Given the description of an element on the screen output the (x, y) to click on. 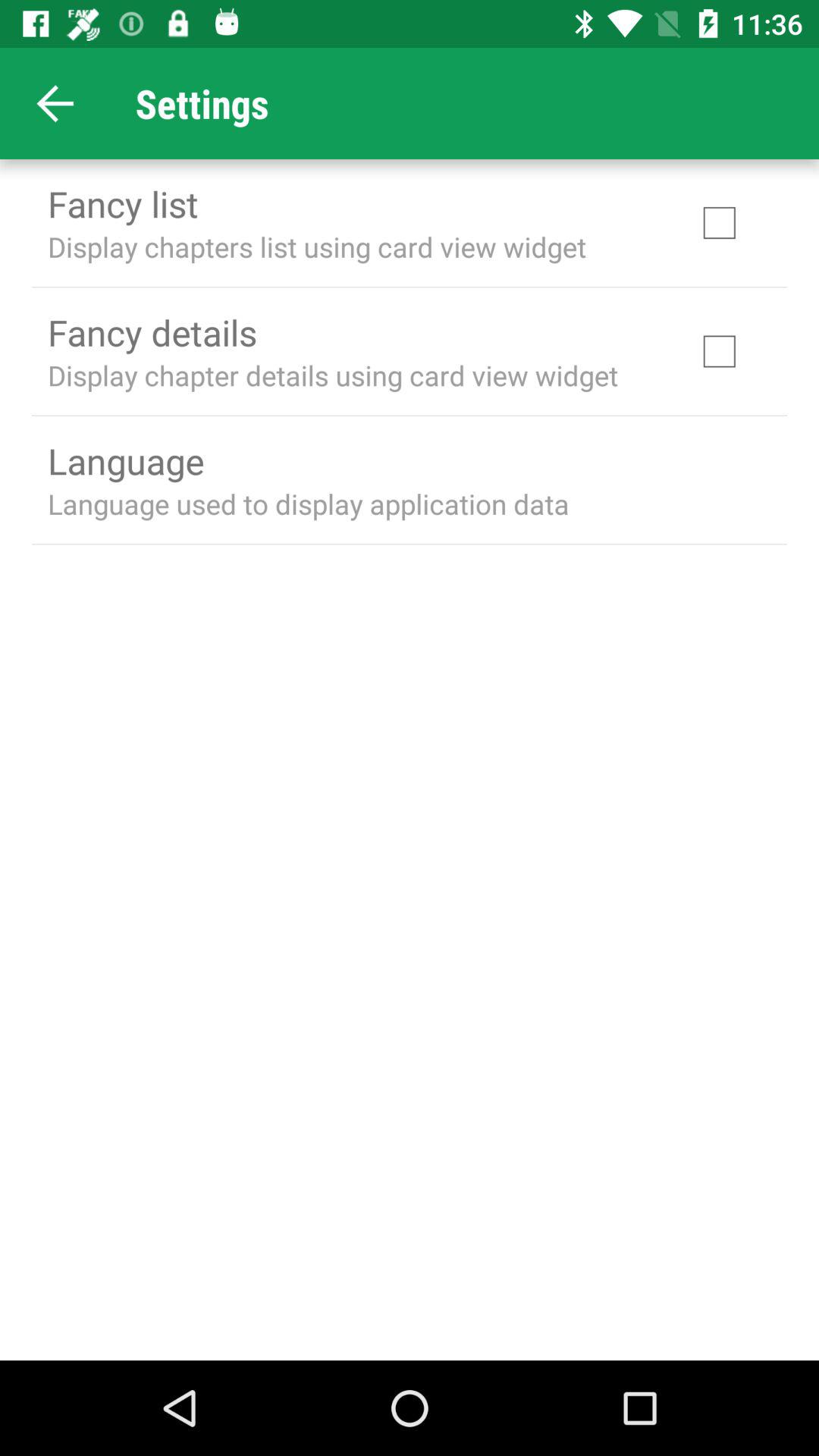
jump to the display chapter details (332, 375)
